Given the description of an element on the screen output the (x, y) to click on. 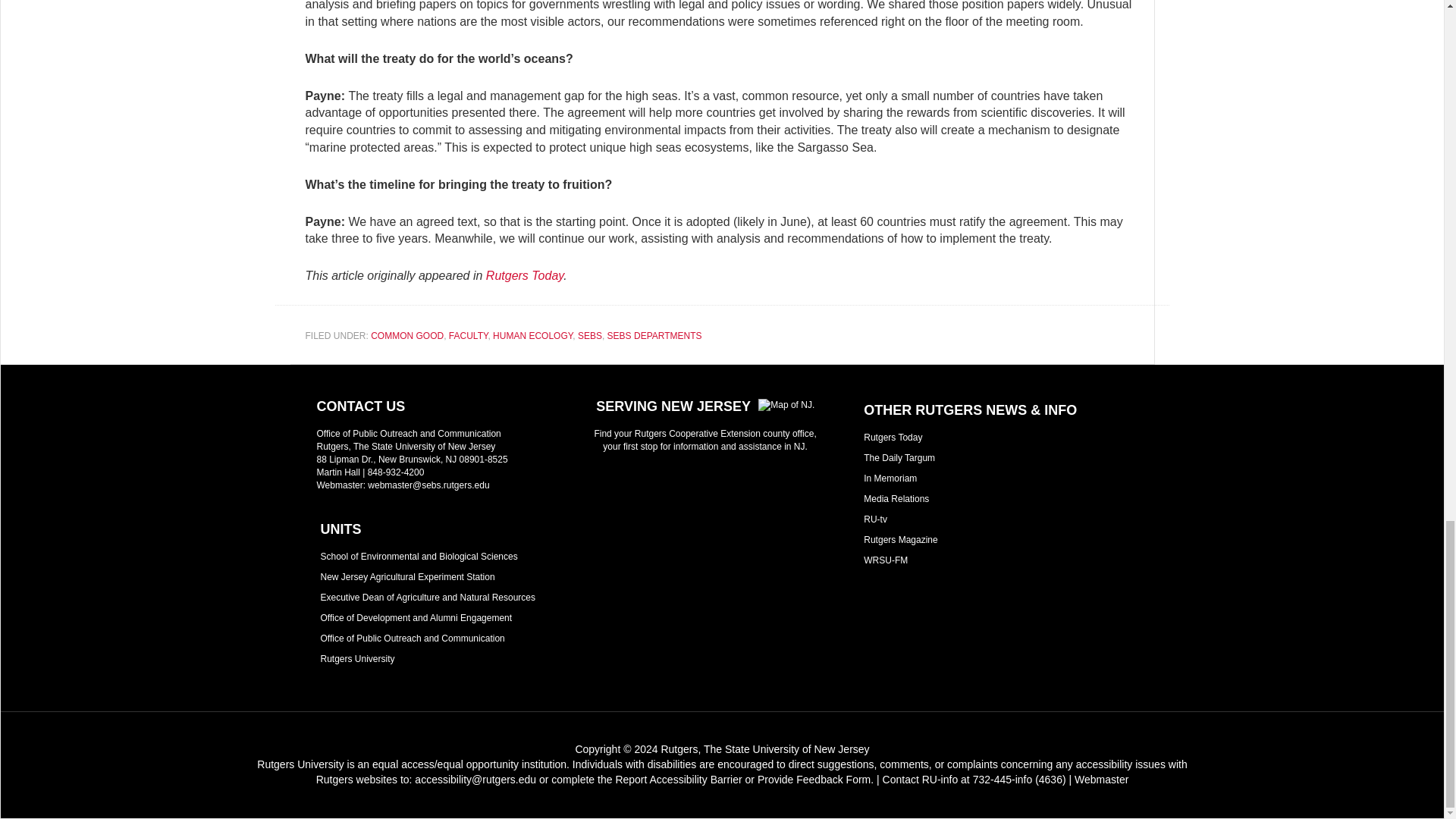
SEBS DEPARTMENTS (654, 335)
HUMAN ECOLOGY (532, 335)
SEBS (590, 335)
FACULTY (467, 335)
COMMON GOOD (407, 335)
Rutgers Today (524, 275)
